Given the description of an element on the screen output the (x, y) to click on. 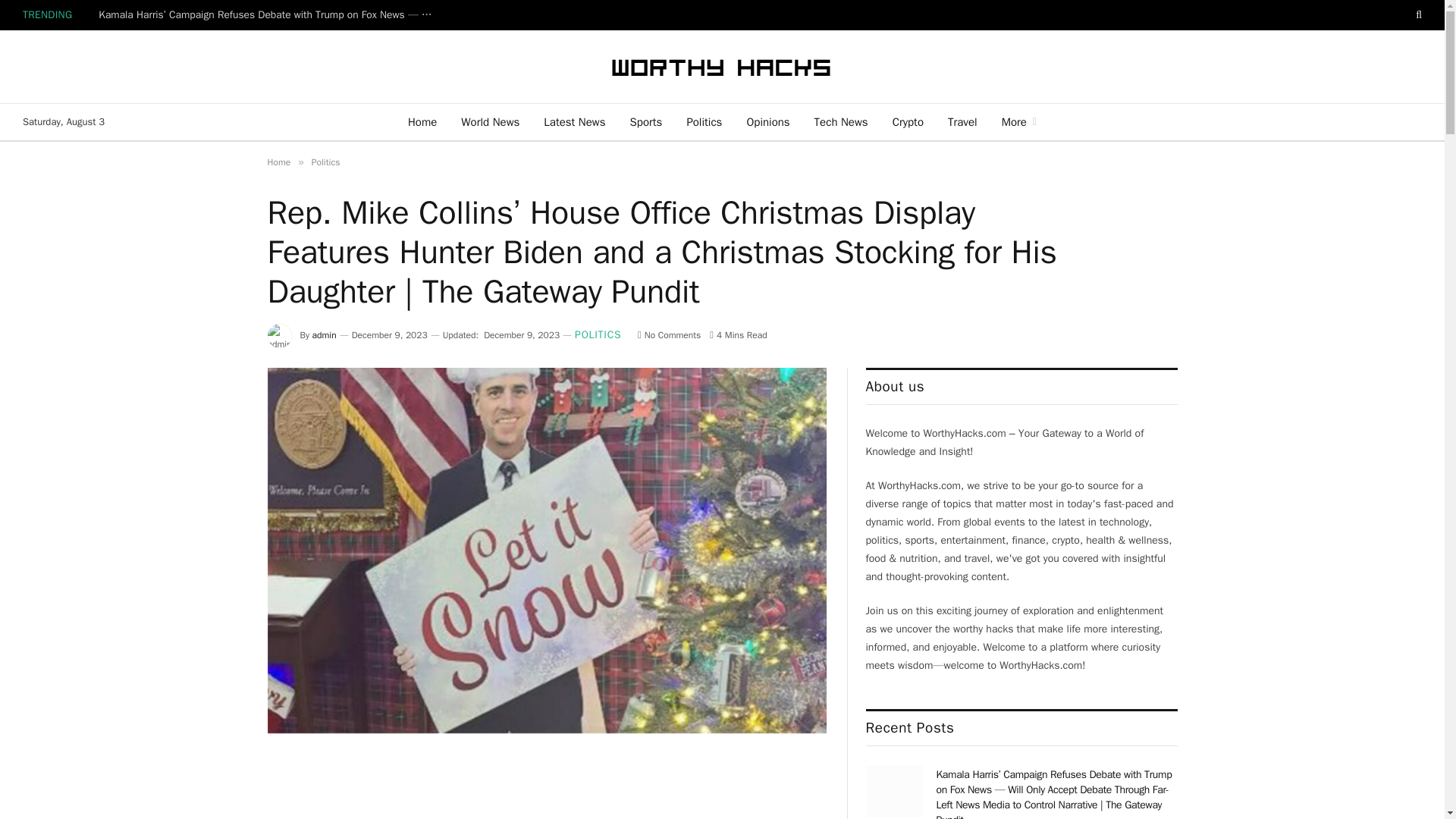
Politics (325, 162)
No Comments (668, 335)
Latest News (574, 122)
Sports (646, 122)
Travel (963, 122)
Home (277, 162)
Home (422, 122)
Opinions (767, 122)
admin (324, 335)
Politics (703, 122)
More (1019, 122)
Posts by admin (324, 335)
Tech News (841, 122)
Crypto (908, 122)
Worthy Hacks (721, 66)
